Given the description of an element on the screen output the (x, y) to click on. 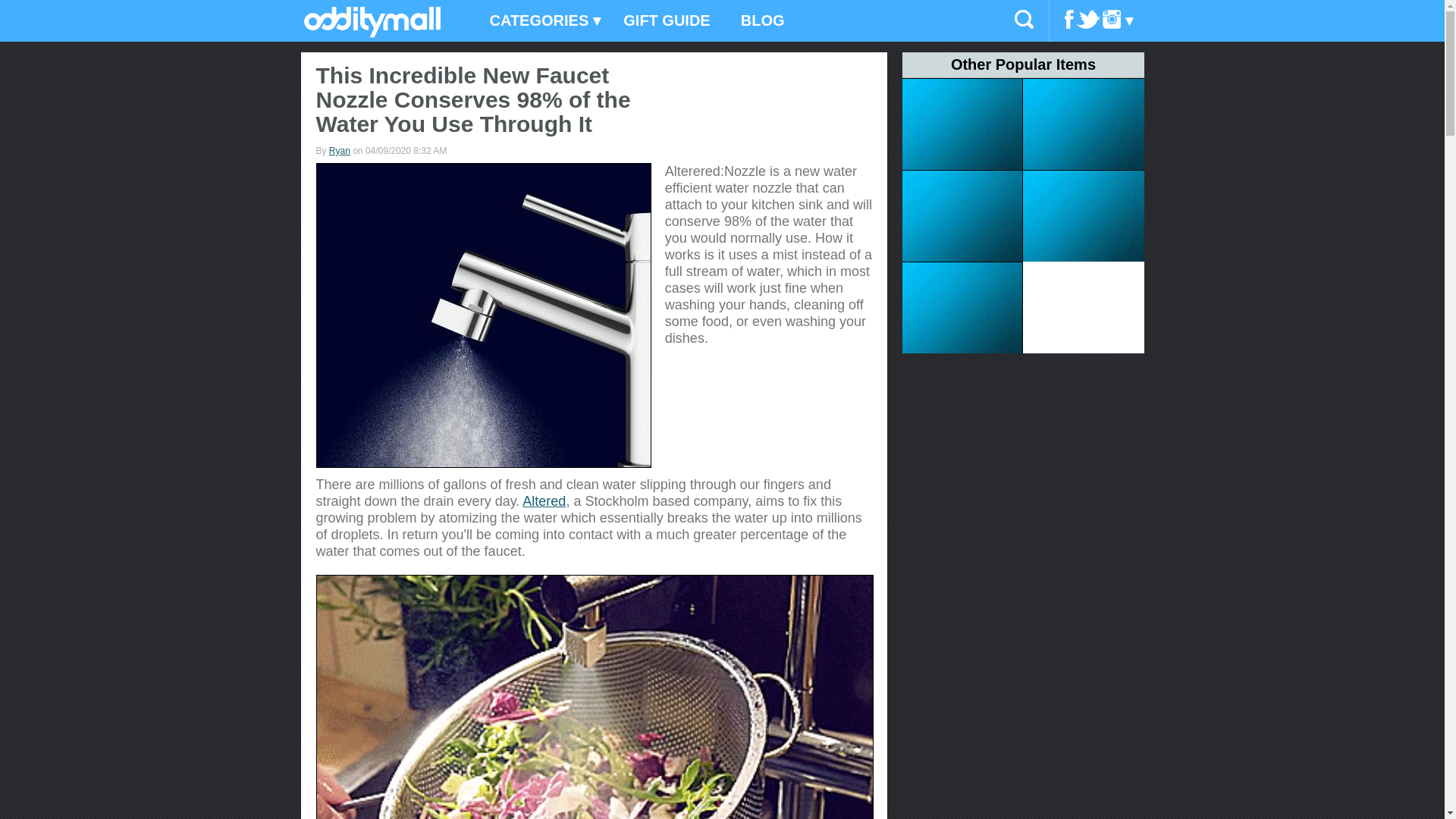
Unique Gifts - Unusual Gift Ideas (371, 32)
BLOG (762, 20)
Ryan (339, 150)
GIFT GUIDE (666, 20)
CATEGORIES (541, 20)
Altered (544, 500)
